Given the description of an element on the screen output the (x, y) to click on. 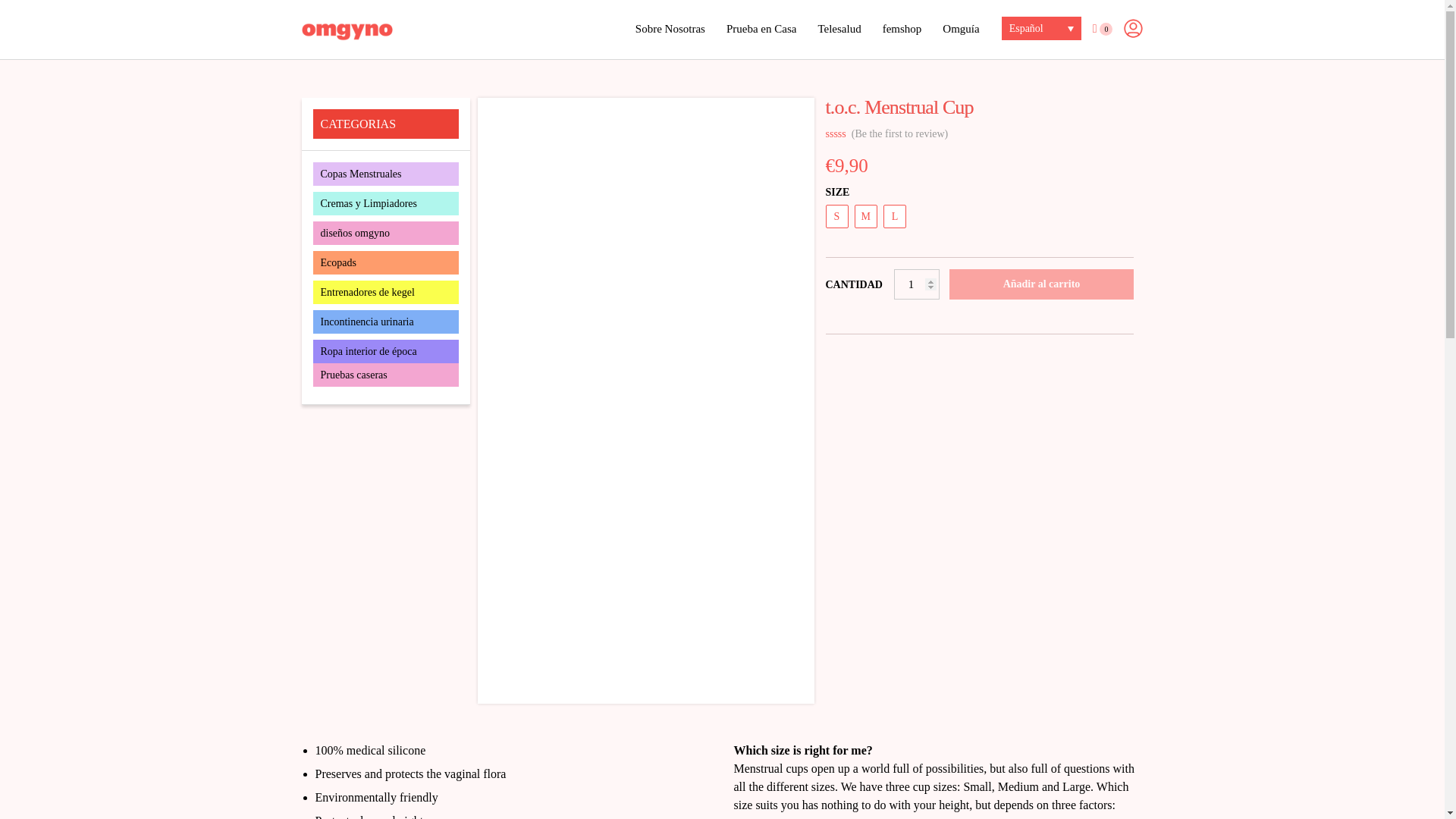
Cremas y Limpiadores (385, 203)
Ecopads (385, 262)
Entrenadores de kegel (385, 291)
femshop (902, 28)
Incontinencia urinaria (385, 321)
Telesalud (838, 28)
Pruebas caseras (385, 374)
1 (916, 284)
Sobre Nosotras (670, 28)
0 (1102, 29)
